Given the description of an element on the screen output the (x, y) to click on. 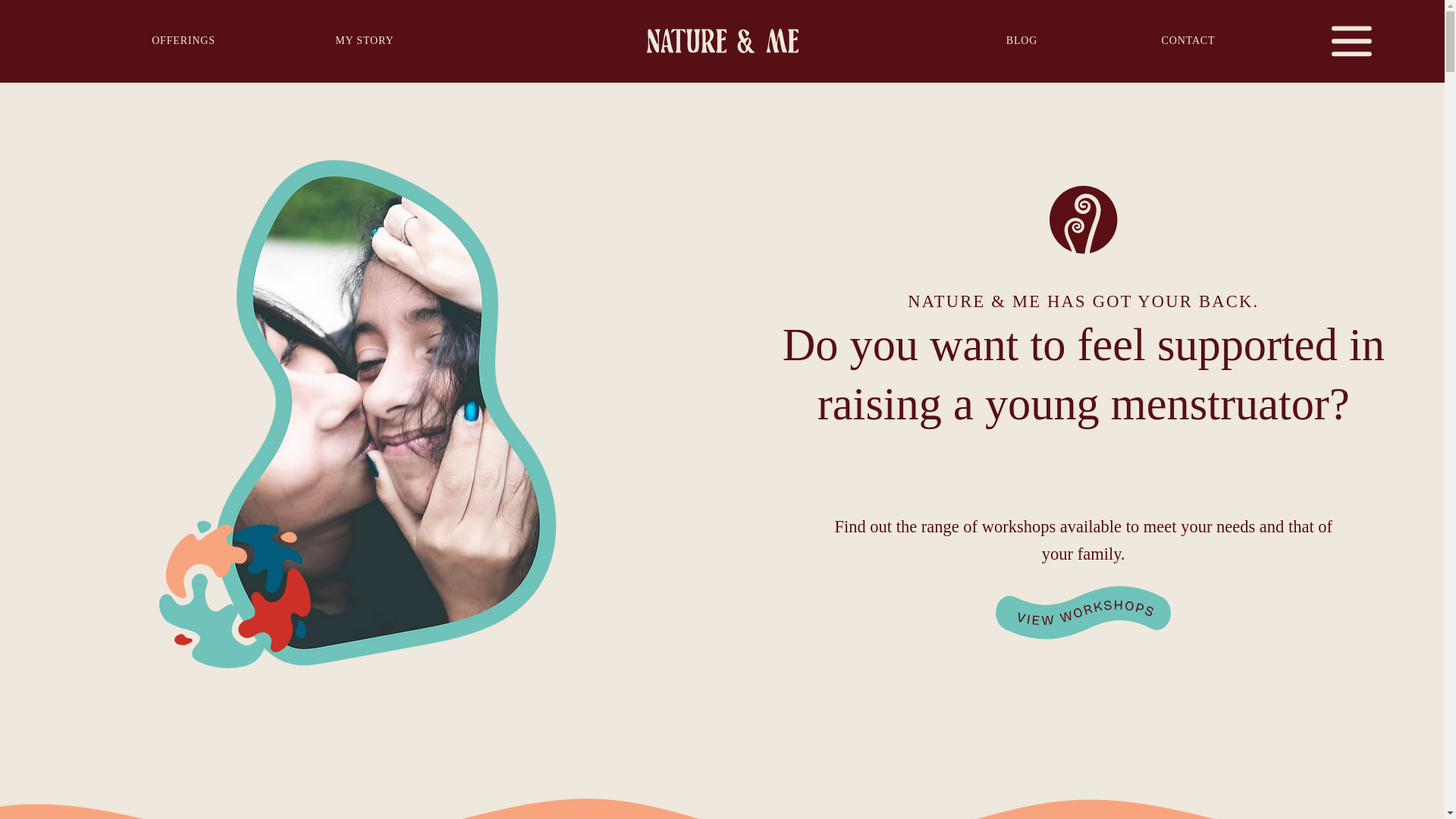
BLOG (1021, 40)
MY STORY (363, 40)
CONTACT (1188, 40)
